Given the description of an element on the screen output the (x, y) to click on. 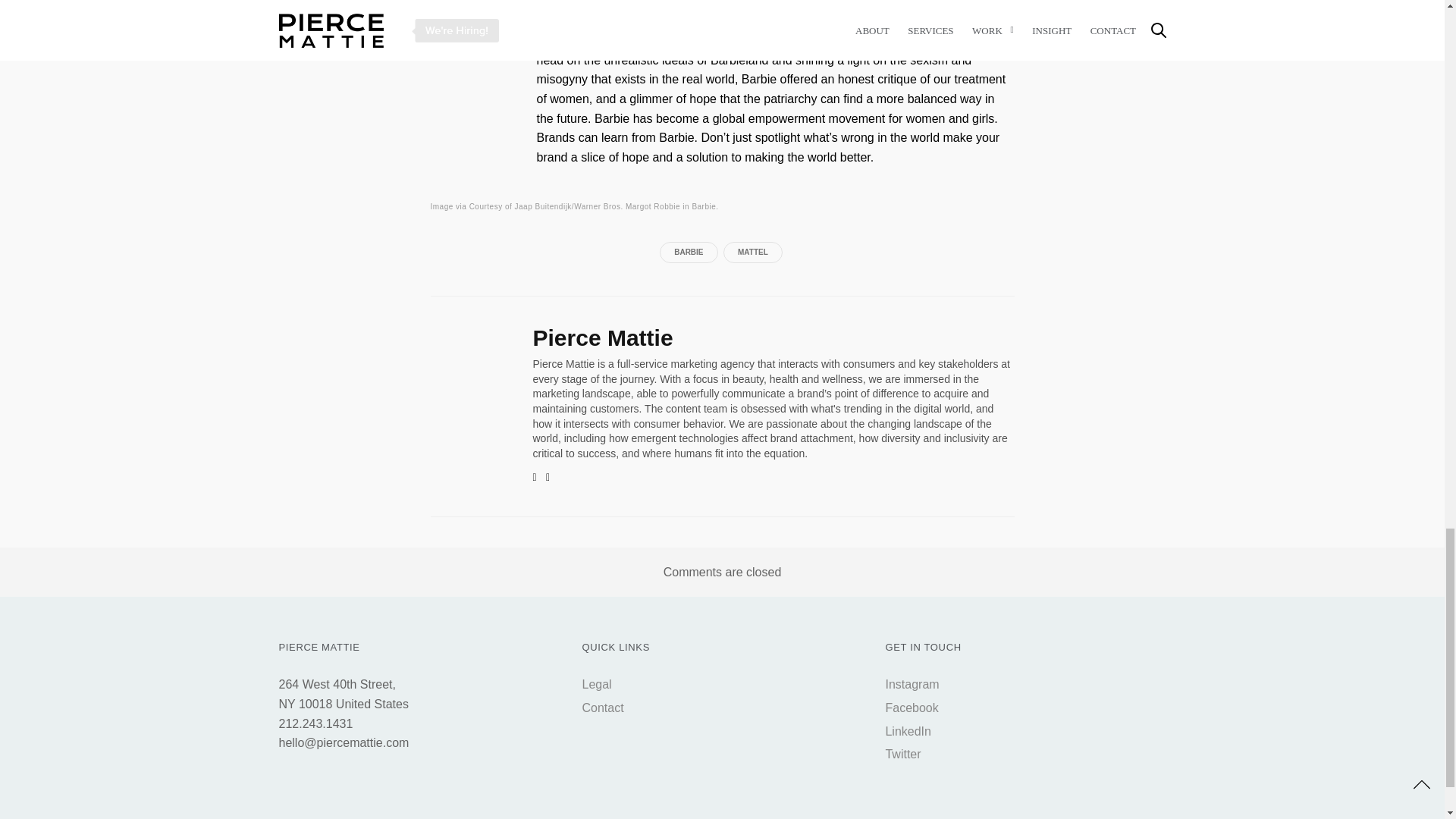
Facebook (911, 707)
Twitter (902, 753)
MATTEL (753, 251)
LinkedIn (908, 730)
BARBIE (688, 251)
Pierce Mattie (602, 337)
Contact (601, 707)
Legal (595, 684)
Instagram (912, 684)
